Given the description of an element on the screen output the (x, y) to click on. 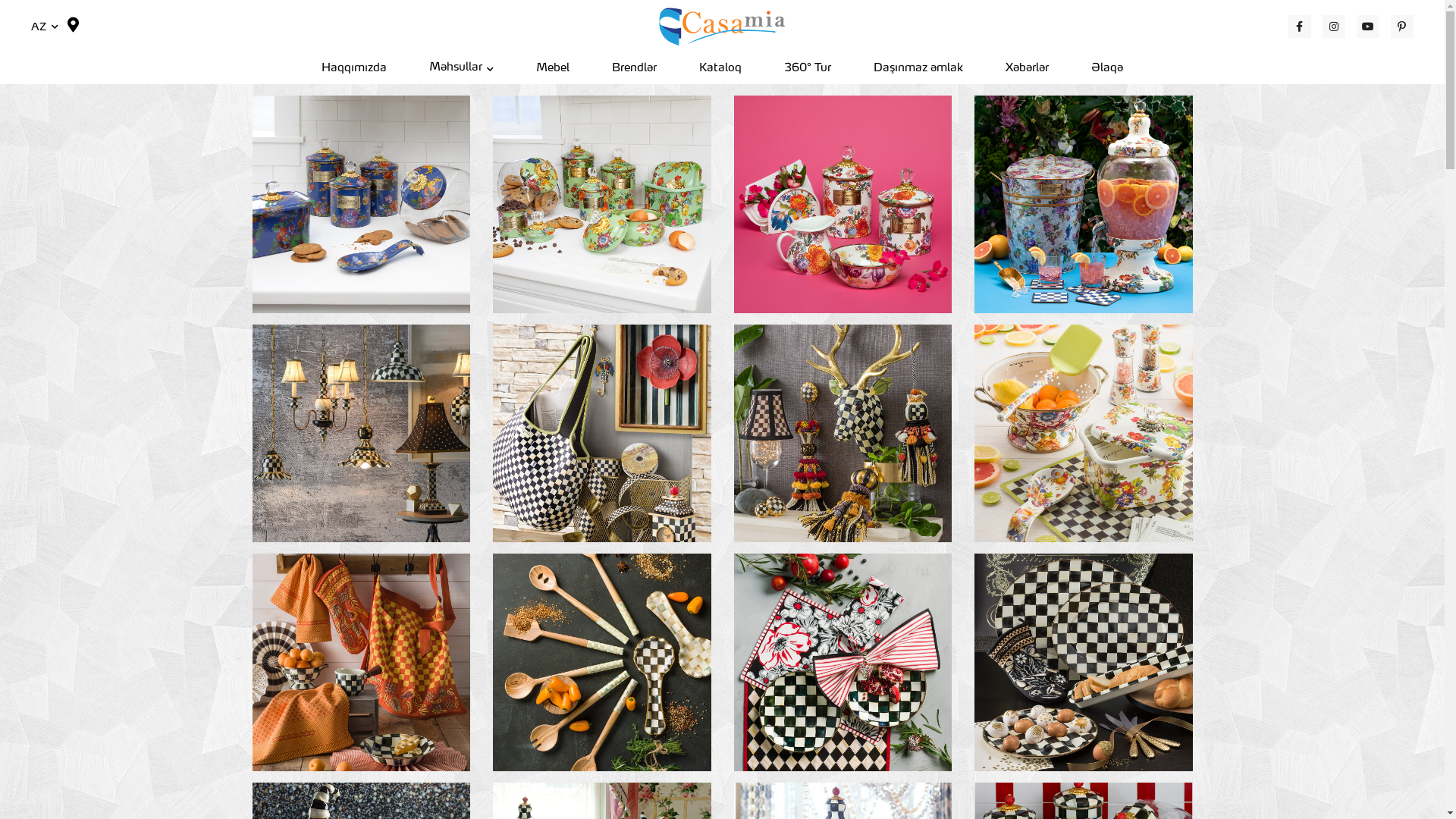
Kataloq Element type: text (720, 69)
Mebel Element type: text (552, 69)
AZ Element type: text (44, 26)
